Given the description of an element on the screen output the (x, y) to click on. 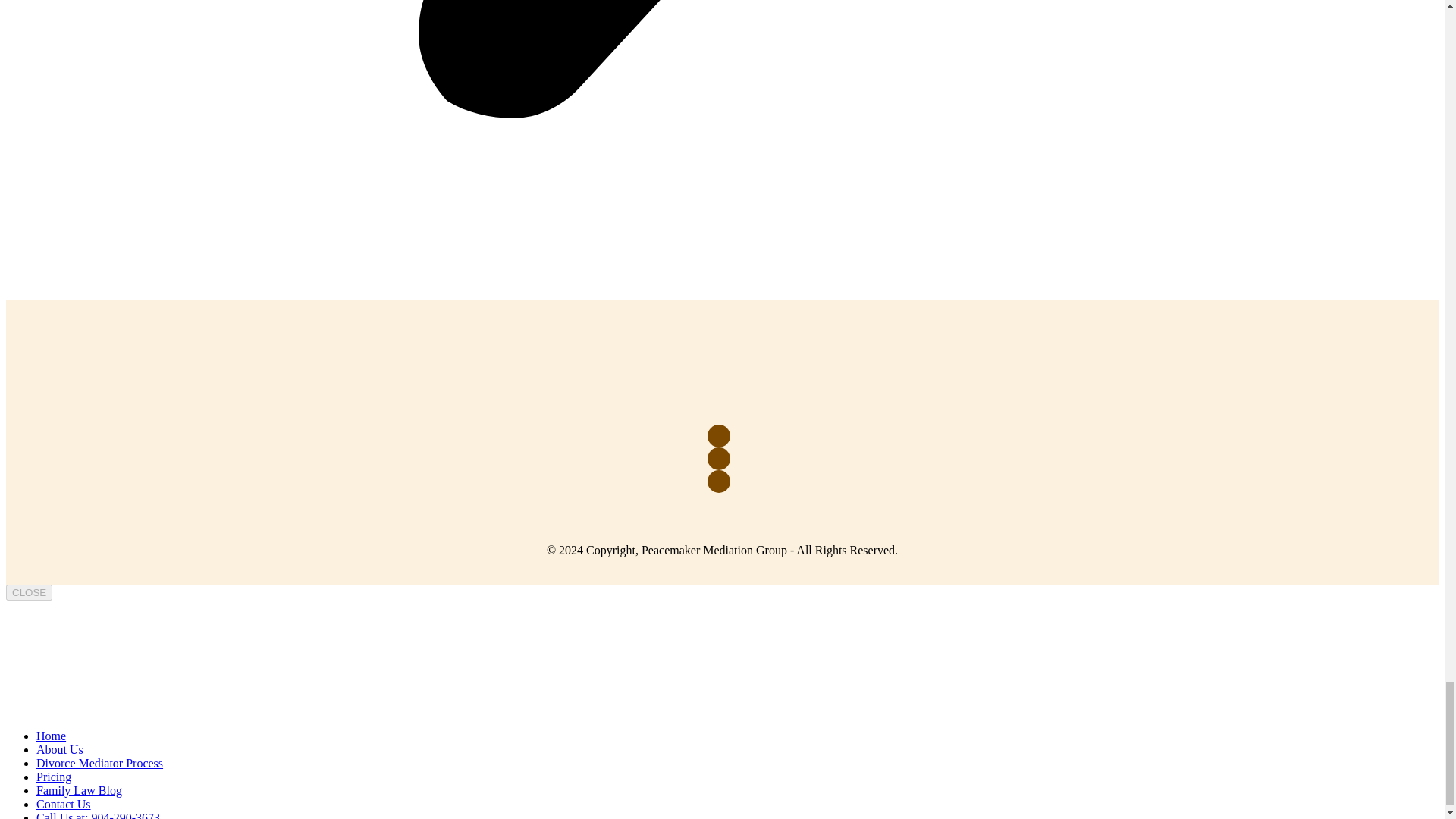
Contact Us (63, 803)
Divorce Mediator Process (99, 762)
Home (50, 735)
About Us (59, 748)
Pricing (53, 776)
CLOSE (28, 592)
Family Law Blog (79, 789)
